Given the description of an element on the screen output the (x, y) to click on. 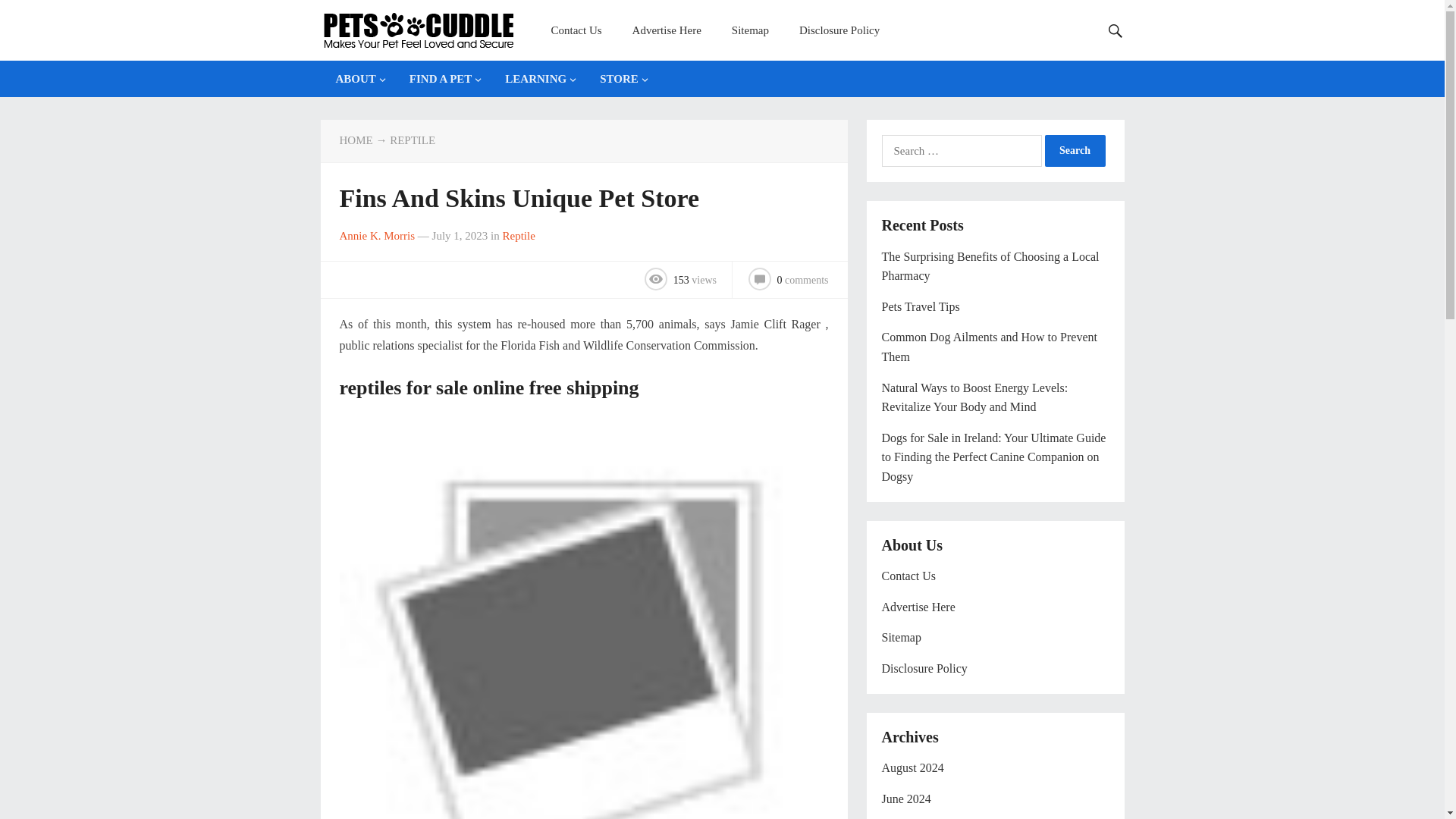
LEARNING (537, 78)
View all posts in Reptile (412, 140)
HOME (355, 140)
Search (1075, 151)
Posts by Annie K. Morris (376, 235)
ABOUT (356, 78)
STORE (620, 78)
Disclosure Policy (839, 30)
FIND A PET (442, 78)
Search (1075, 151)
